Given the description of an element on the screen output the (x, y) to click on. 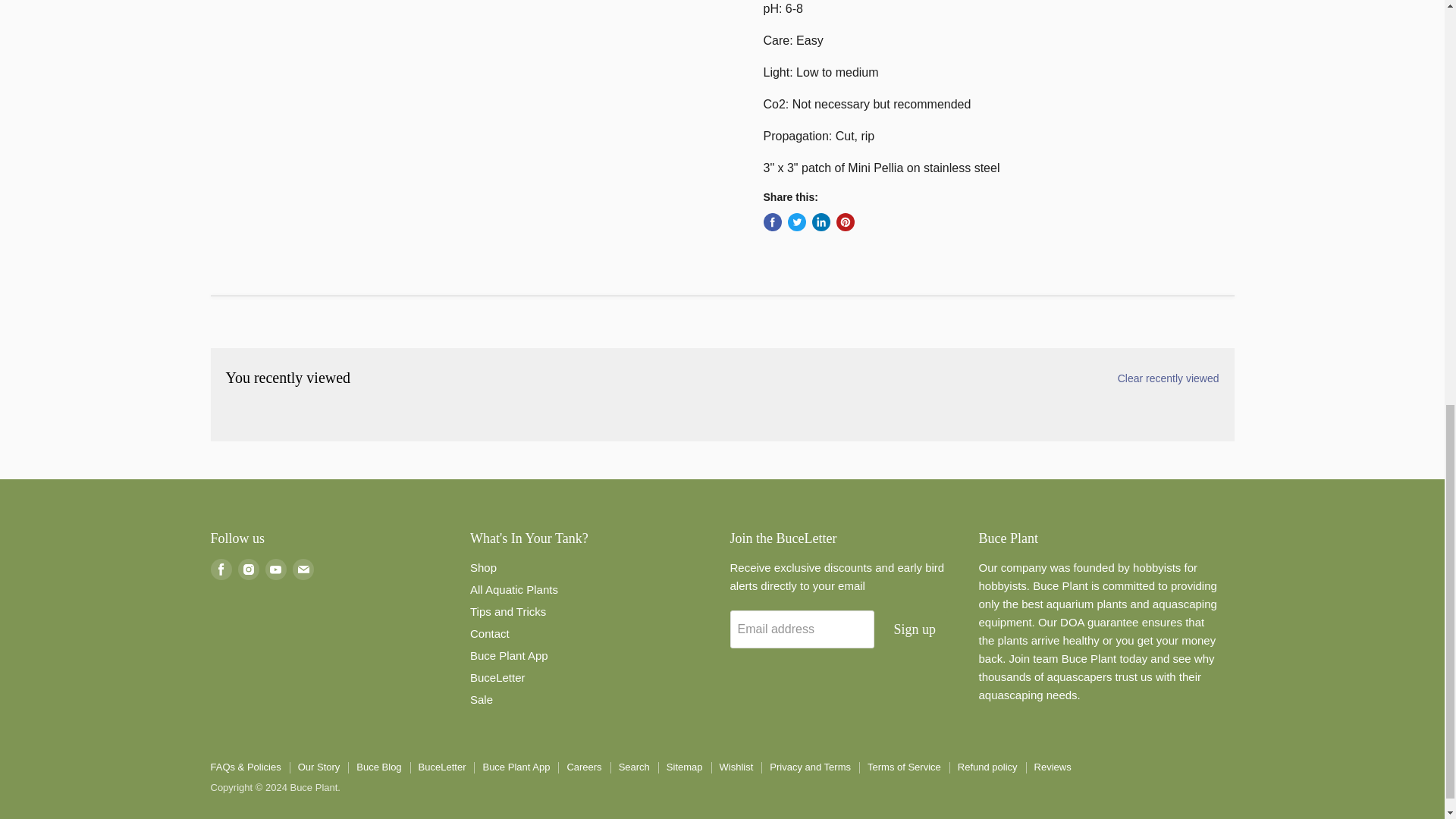
Youtube (275, 568)
Facebook (221, 568)
Instagram (248, 568)
Email (303, 568)
